Given the description of an element on the screen output the (x, y) to click on. 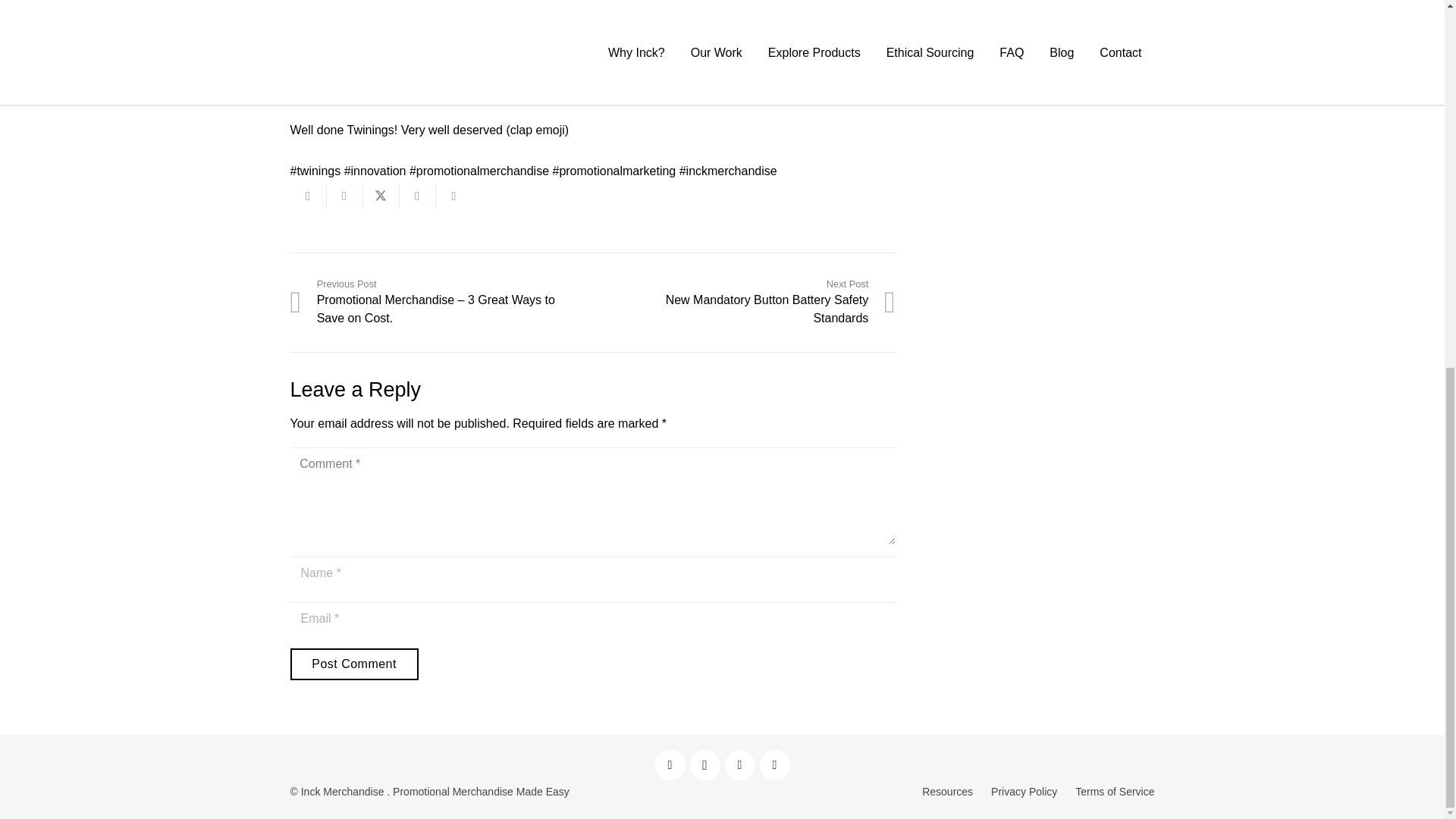
Privacy Policy (1024, 791)
Resources (946, 791)
New Mandatory Button Battery Safety Standards (743, 301)
Share this (344, 196)
Terms of Service (743, 301)
LinkedIn (1114, 791)
Share this (740, 765)
Instagram (416, 196)
Email this (705, 765)
Pinterest (307, 196)
Pin this (775, 765)
Twinings Australia (453, 196)
Facebook (716, 42)
Post Comment (670, 765)
